Given the description of an element on the screen output the (x, y) to click on. 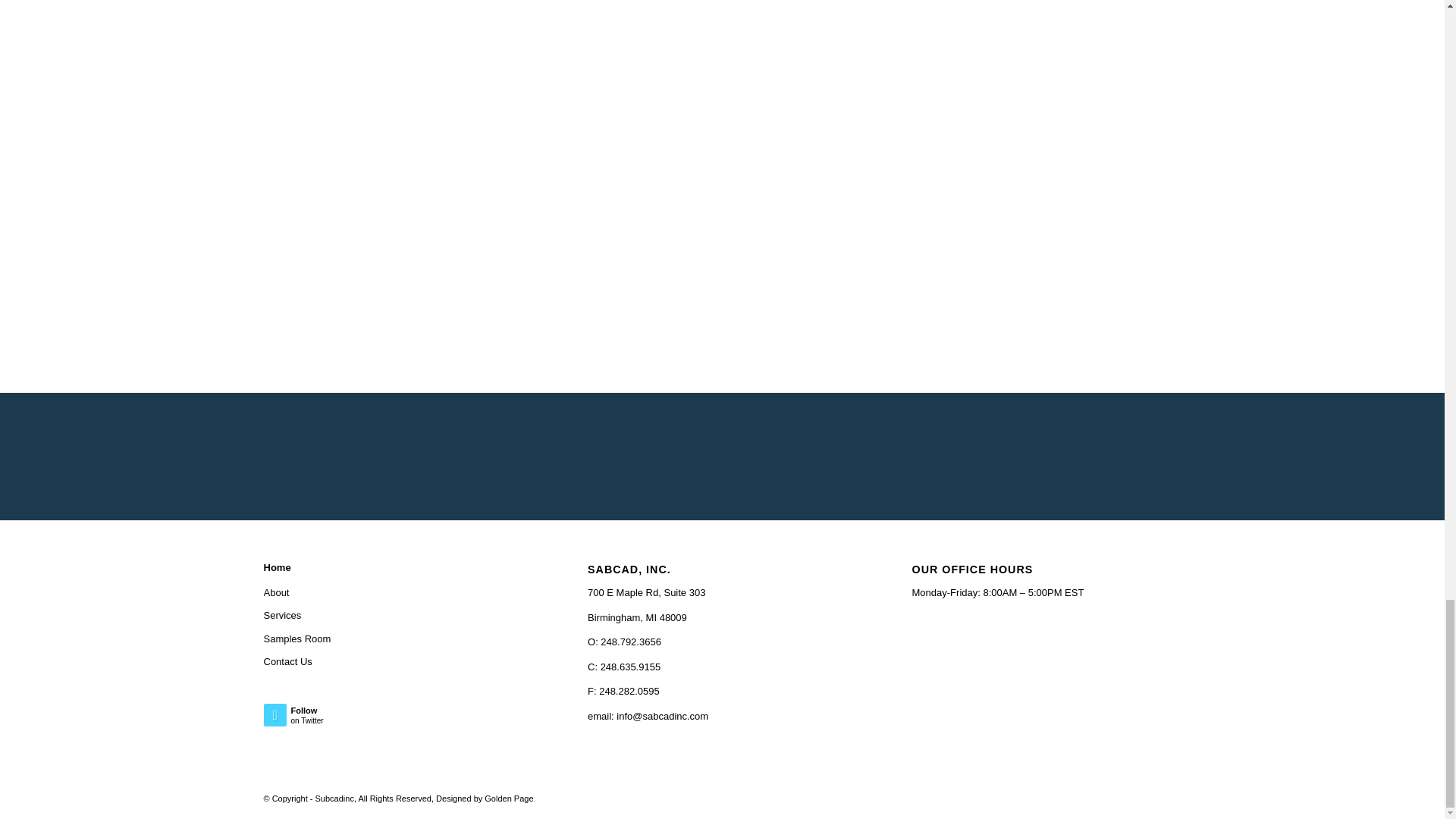
Golden Page (508, 798)
Home (397, 567)
Subscribe (898, 466)
Services (397, 615)
About (397, 592)
Samples Room (397, 639)
Contact Us (330, 718)
